Given the description of an element on the screen output the (x, y) to click on. 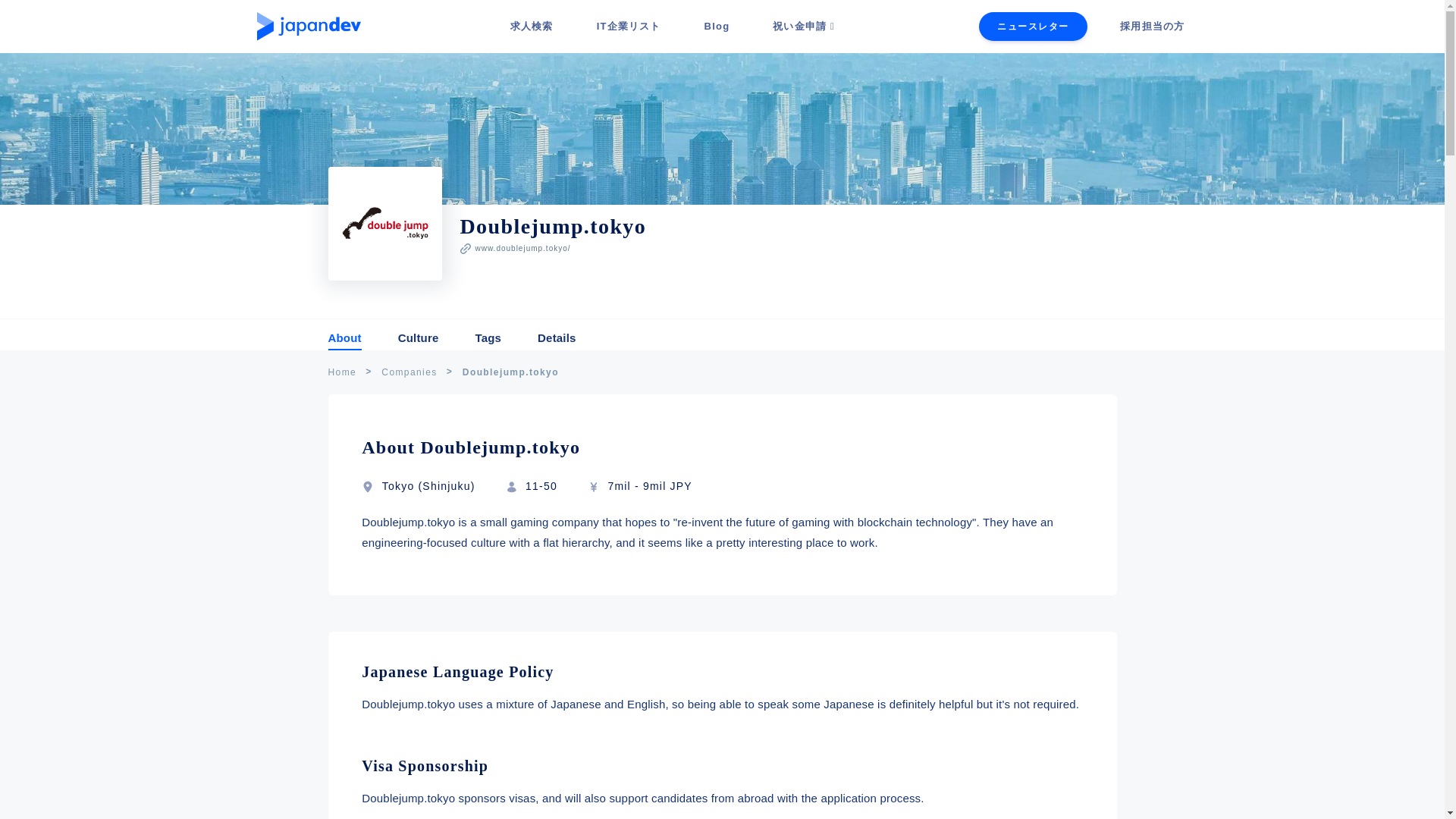
Home (341, 372)
Companies (408, 372)
Blog (717, 26)
Doublejump.tokyo (511, 372)
